Given the description of an element on the screen output the (x, y) to click on. 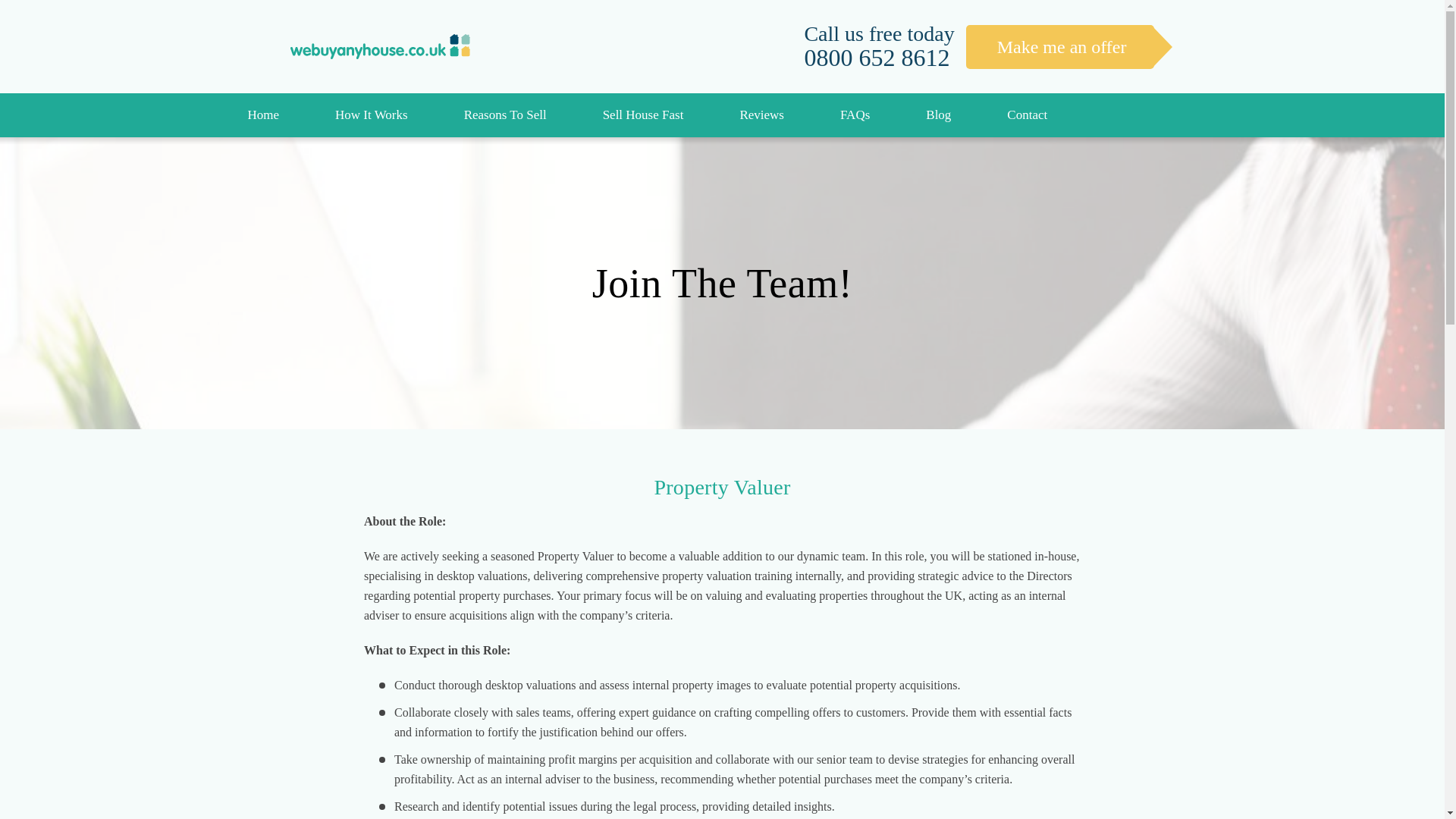
0800 652 8612 (876, 57)
Make me an offer (1060, 45)
Reasons To Sell (505, 115)
Blog (937, 115)
Home (262, 115)
Sell House Fast (643, 115)
Contact (1027, 115)
How It Works (370, 115)
FAQs (854, 115)
Reviews (761, 115)
